Given the description of an element on the screen output the (x, y) to click on. 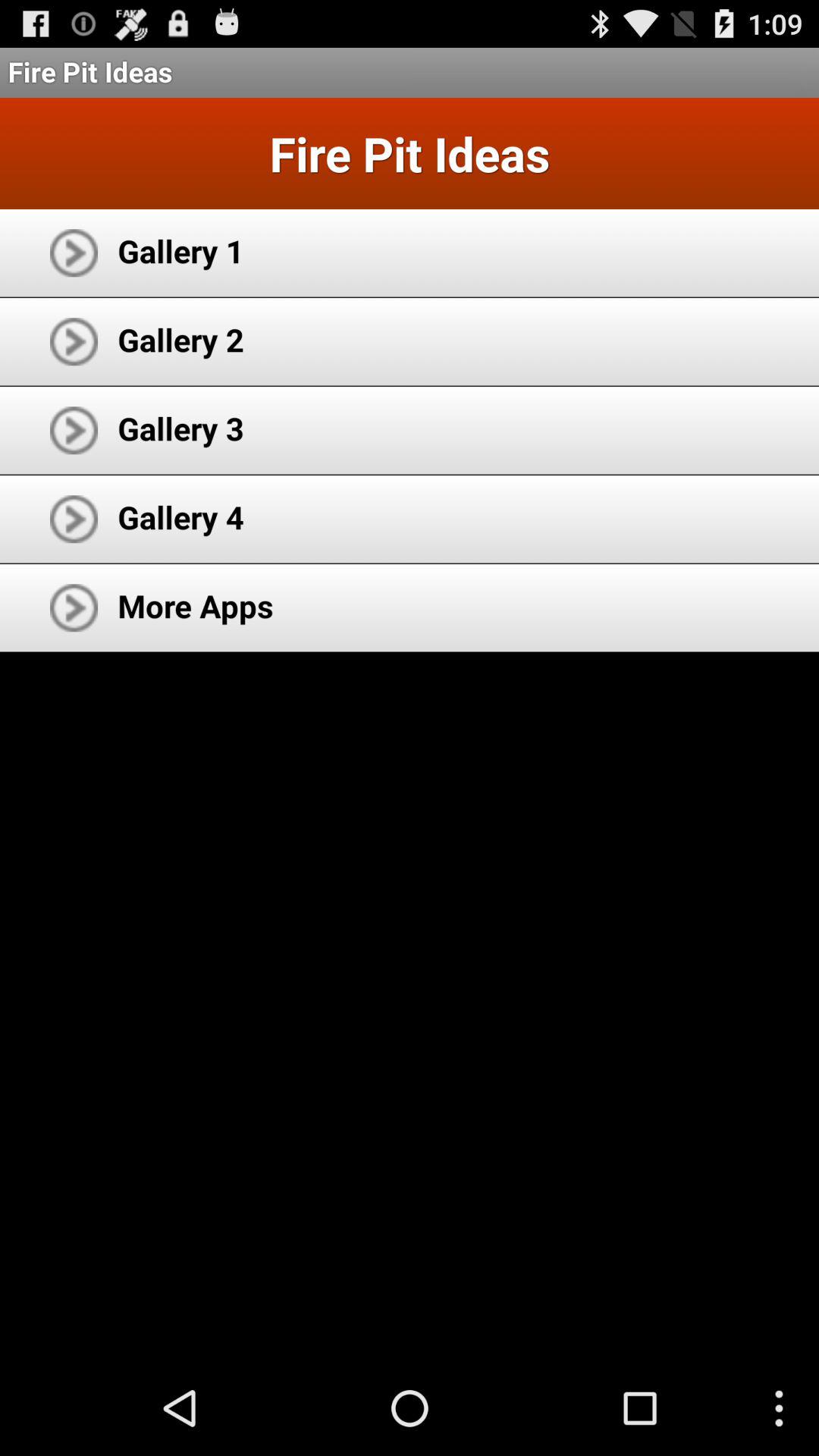
jump until gallery 3 (180, 427)
